Given the description of an element on the screen output the (x, y) to click on. 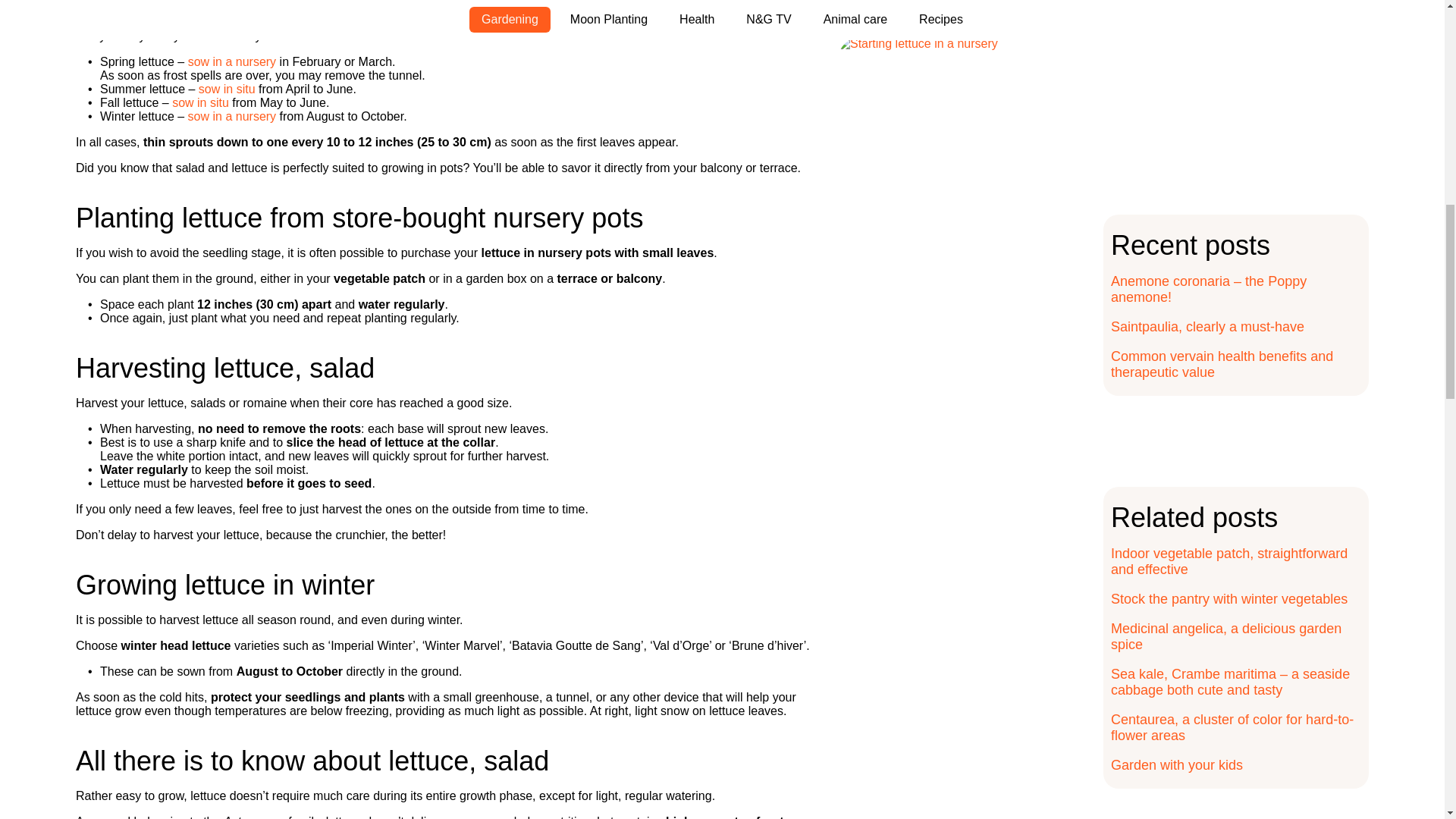
Sowing directly in the plot, a how-to (199, 102)
How to prepare seedlings in a nursery (231, 61)
Direct sowing, starting plants directly in the growing bed (227, 88)
How to start sowing in a nursery (231, 115)
